Given the description of an element on the screen output the (x, y) to click on. 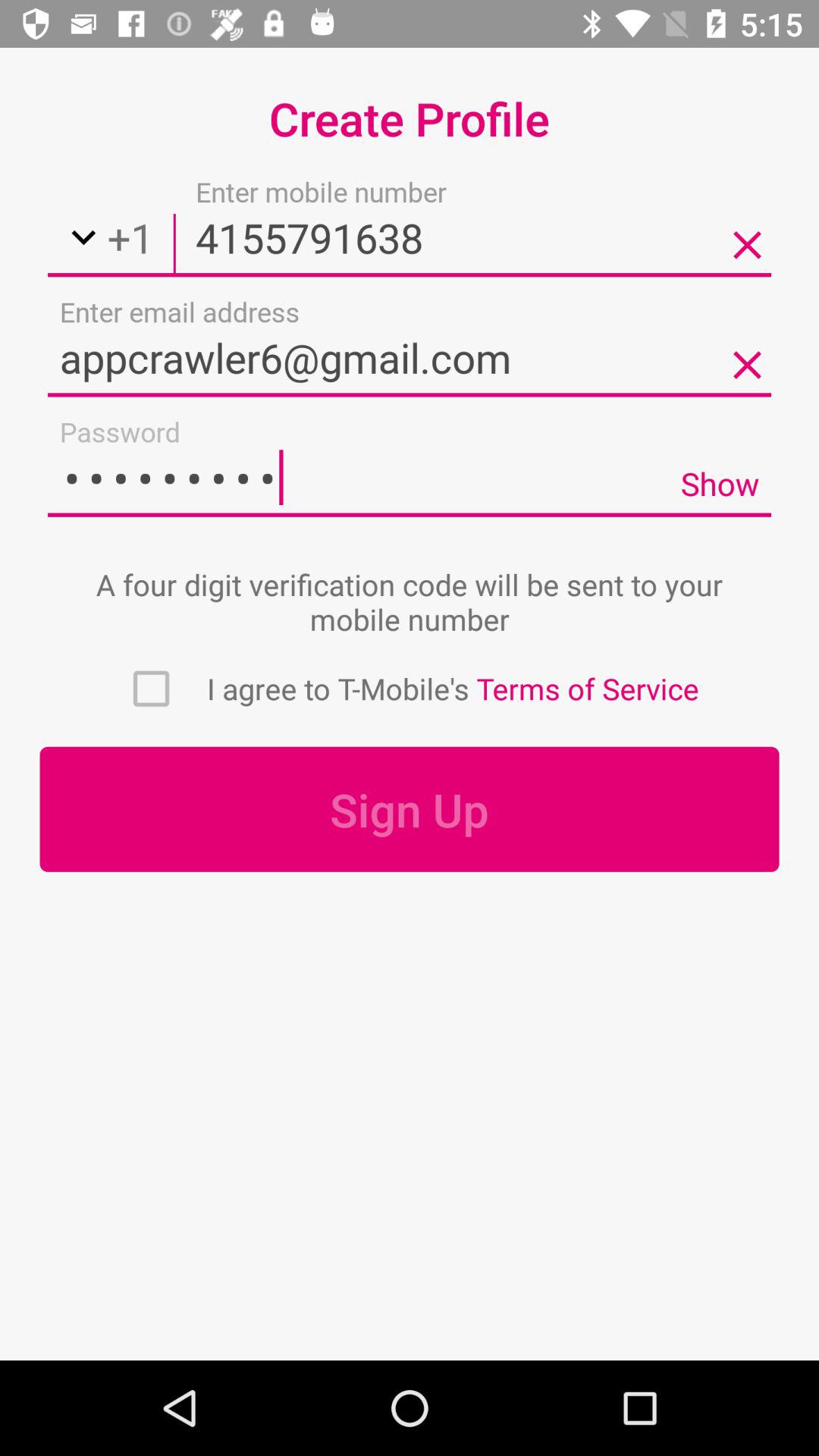
password (357, 477)
